Given the description of an element on the screen output the (x, y) to click on. 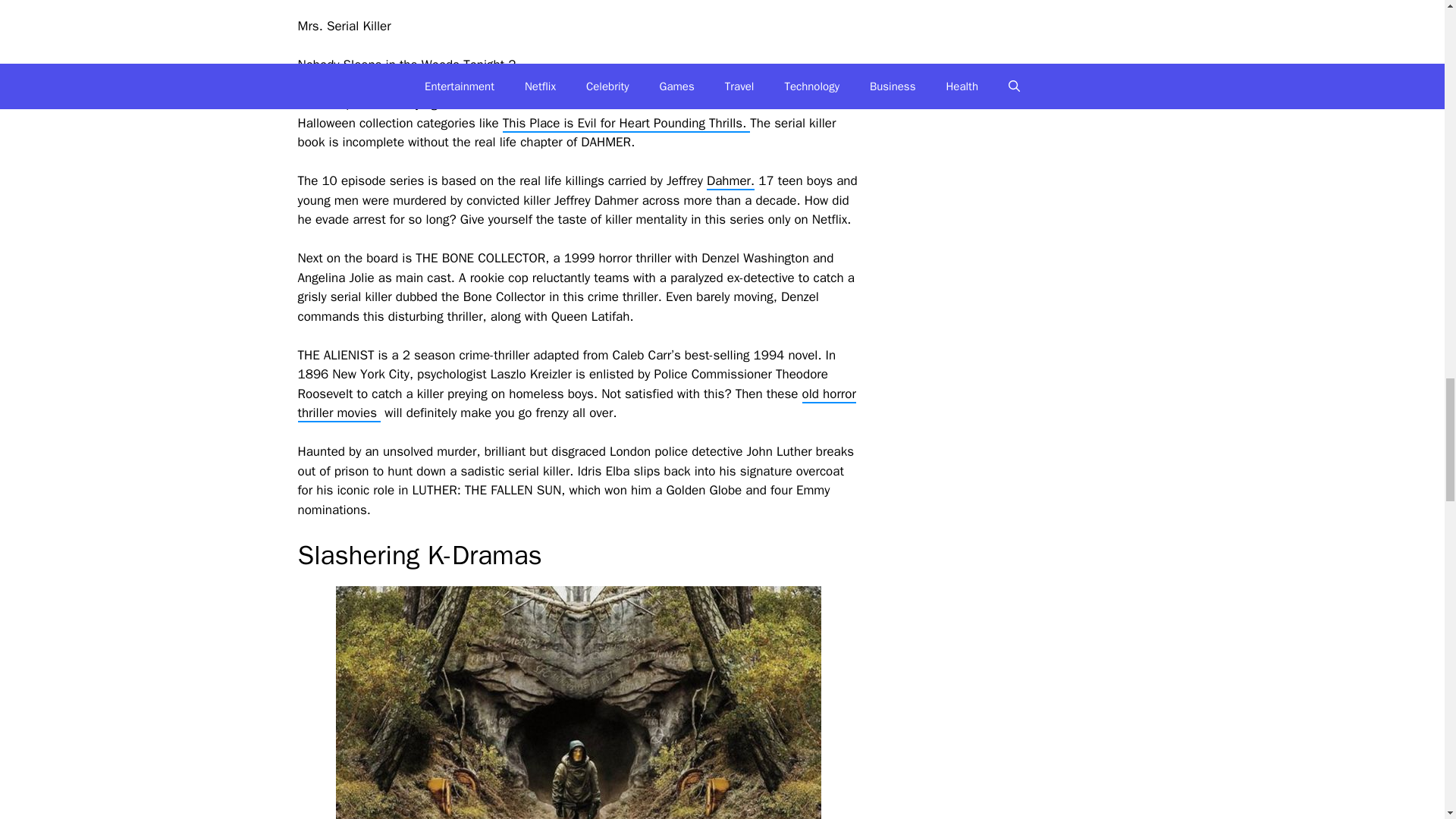
This Place is Evil for Heart Pounding Thrills. (626, 123)
old horror thriller movies (576, 404)
Dahmer. (730, 181)
